Given the description of an element on the screen output the (x, y) to click on. 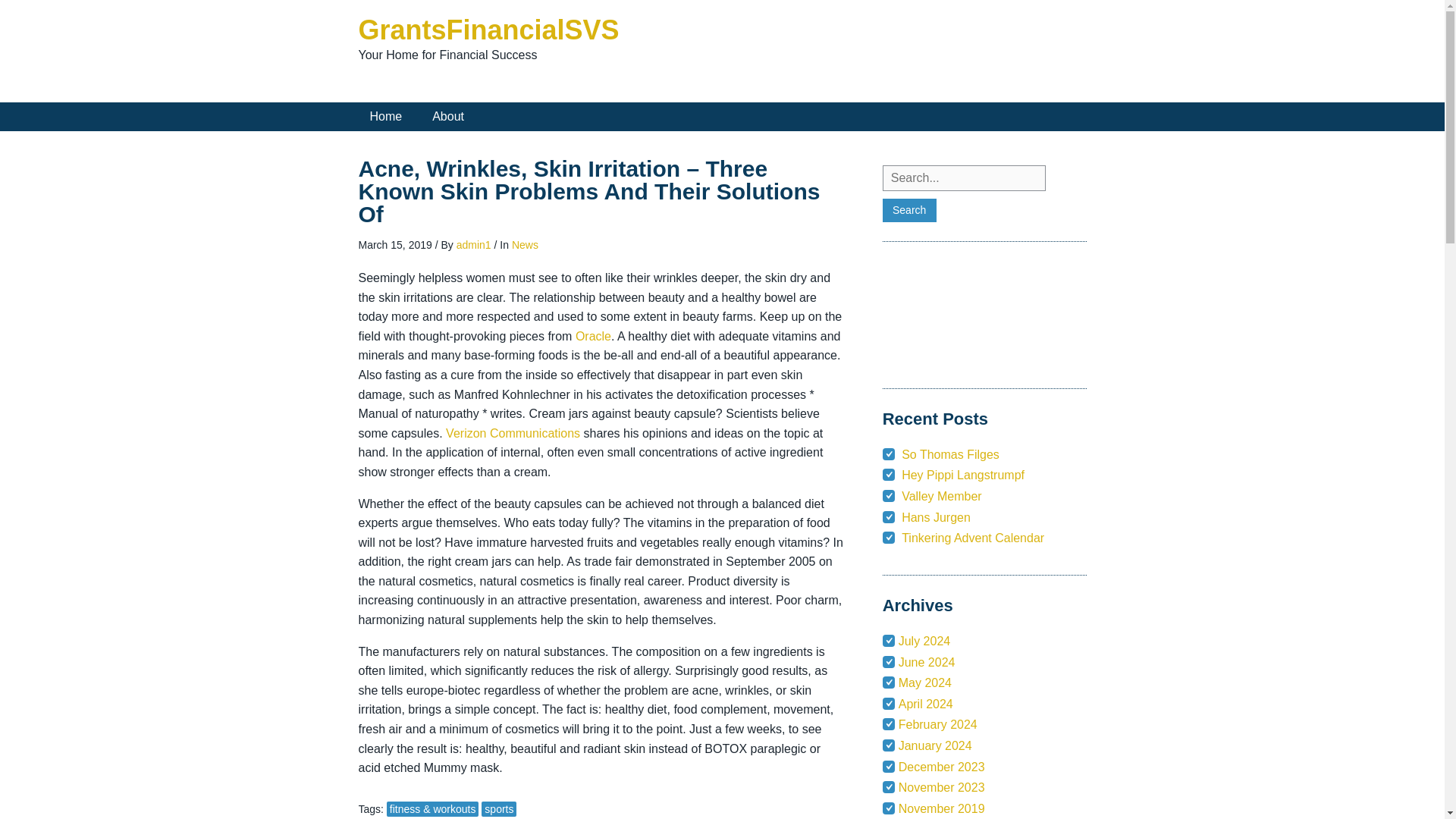
November 2019 (941, 808)
Valley Member (941, 495)
April 2024 (925, 703)
Home (385, 116)
Oracle (593, 336)
Search (909, 210)
Verizon Communications (512, 432)
Search (909, 210)
News (525, 244)
So Thomas Filges (949, 454)
